Given the description of an element on the screen output the (x, y) to click on. 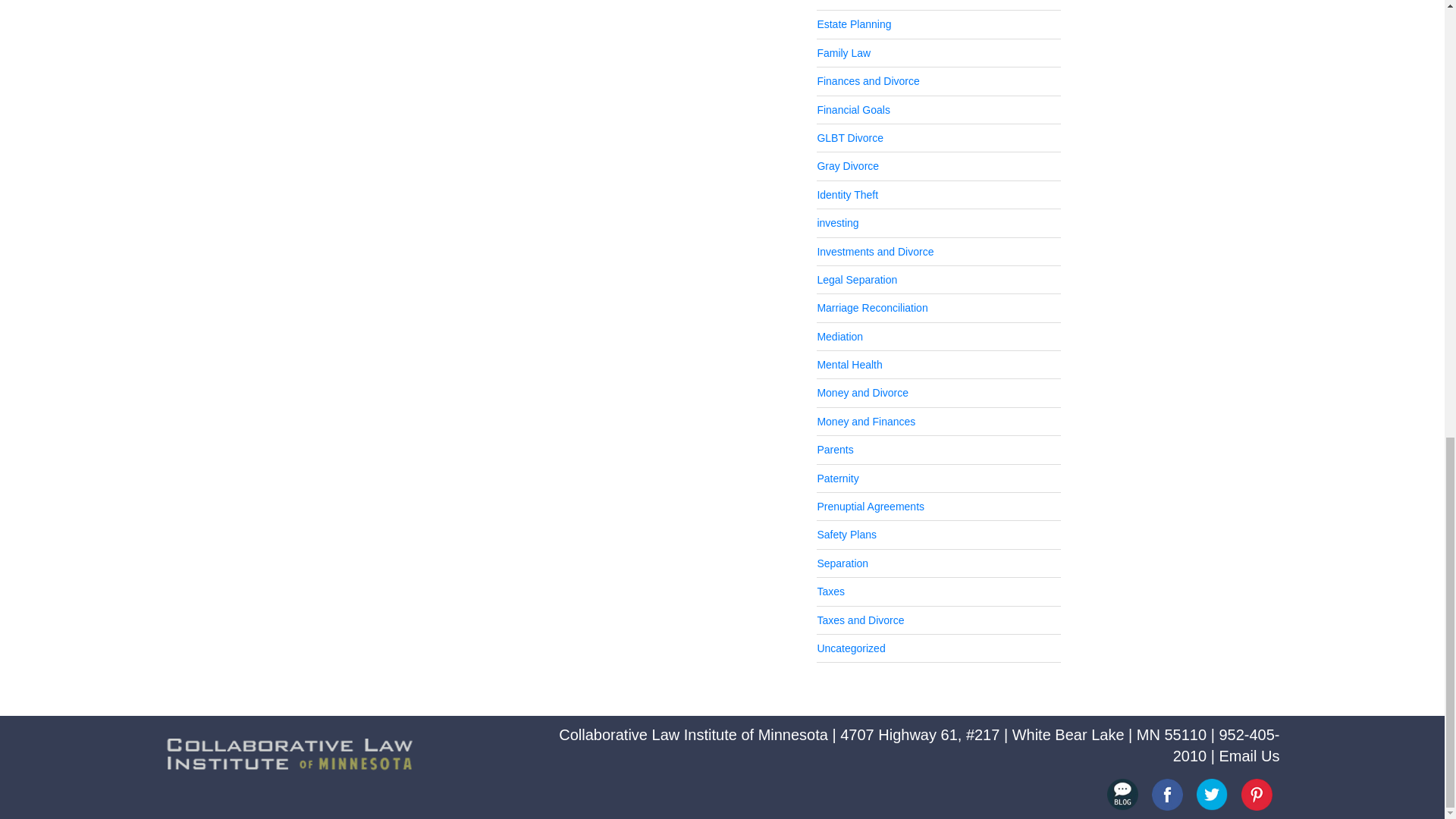
Estate Planning (853, 24)
GLBT Divorce (849, 137)
Financial Goals (852, 110)
Domestic Violence (860, 1)
Family Law (843, 52)
Finances and Divorce (867, 80)
